Given the description of an element on the screen output the (x, y) to click on. 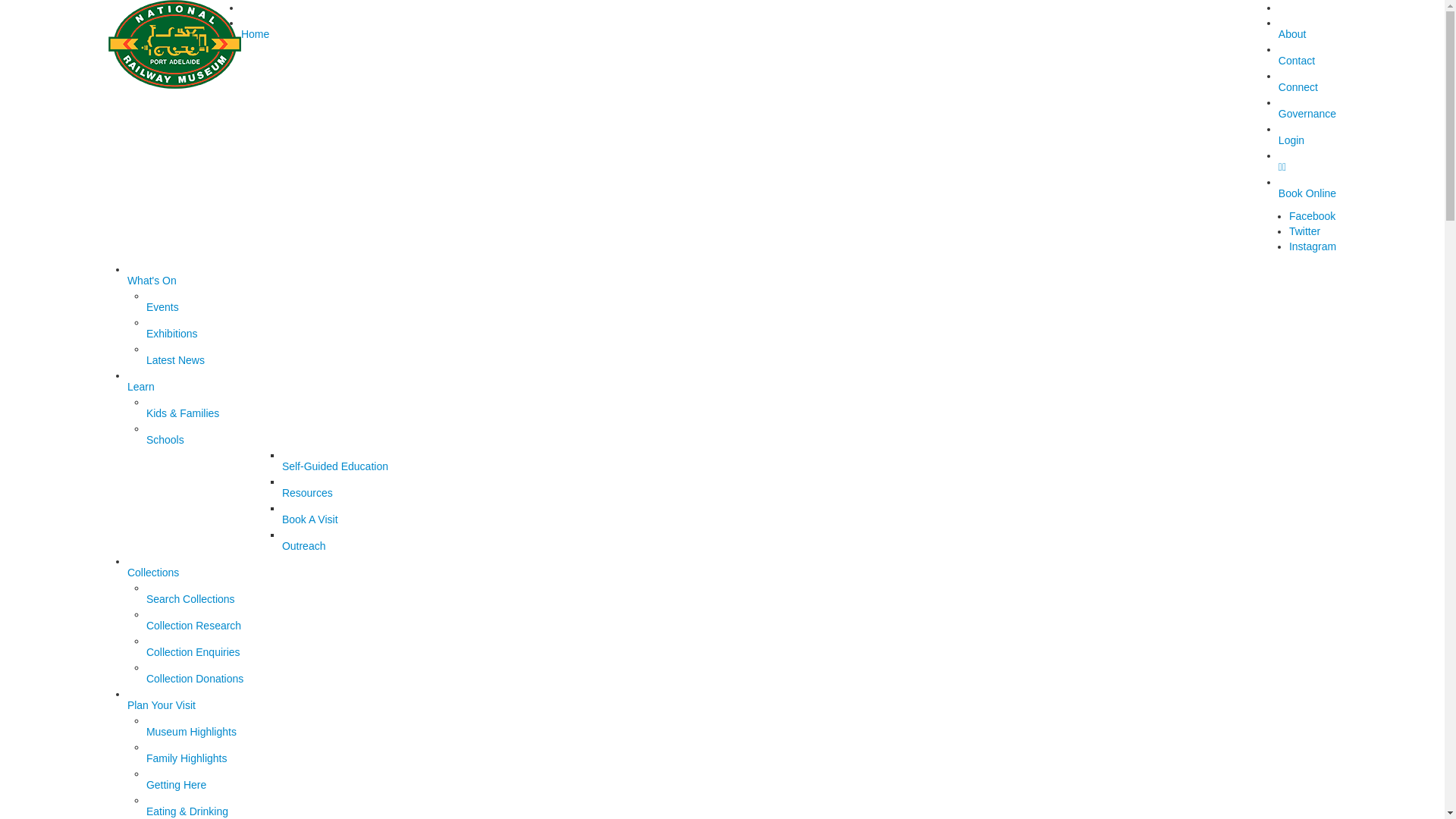
Governance Element type: text (1307, 114)
Twitter Element type: text (1304, 231)
Search Collections Element type: text (214, 600)
Self-Guided Education Element type: text (350, 467)
Learn Element type: text (731, 387)
Collections Element type: text (731, 573)
Collection Research Element type: text (214, 626)
Events Element type: text (214, 308)
Outreach Element type: text (350, 547)
Connect Element type: text (1307, 88)
About Element type: text (1307, 35)
Plan Your Visit Element type: text (731, 706)
Resources Element type: text (350, 494)
Schools Element type: text (214, 440)
Collection Donations Element type: text (214, 679)
Getting Here Element type: text (214, 785)
Book A Visit Element type: text (350, 520)
Exhibitions Element type: text (214, 334)
Collection Enquiries Element type: text (214, 653)
Contact Element type: text (1307, 61)
What's On Element type: text (731, 281)
Family Highlights Element type: text (214, 759)
Facebook Element type: text (1312, 216)
Kids & Families Element type: text (214, 414)
Book Online Element type: text (1307, 194)
Home Element type: text (731, 145)
Museum Highlights Element type: text (214, 732)
Instagram Element type: text (1312, 246)
Login Element type: text (1307, 141)
Latest News Element type: text (214, 361)
